Given the description of an element on the screen output the (x, y) to click on. 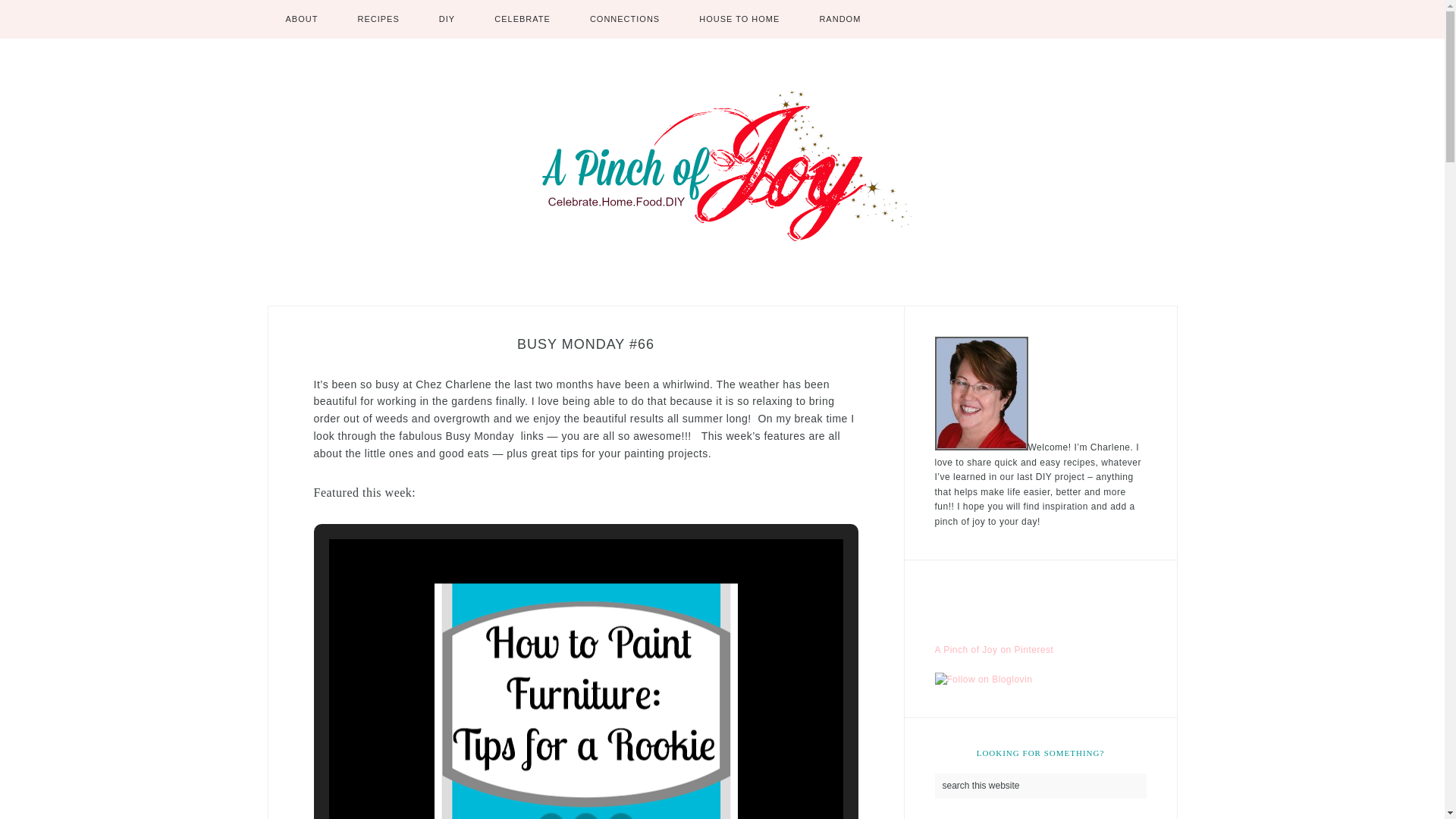
RECIPES (377, 19)
HOUSE TO HOME (739, 19)
CELEBRATE (522, 19)
ABOUT (301, 19)
DIY (446, 19)
CONNECTIONS (625, 19)
paint sign (584, 701)
RANDOM (839, 19)
A PINCH OF JOY (721, 167)
